Given the description of an element on the screen output the (x, y) to click on. 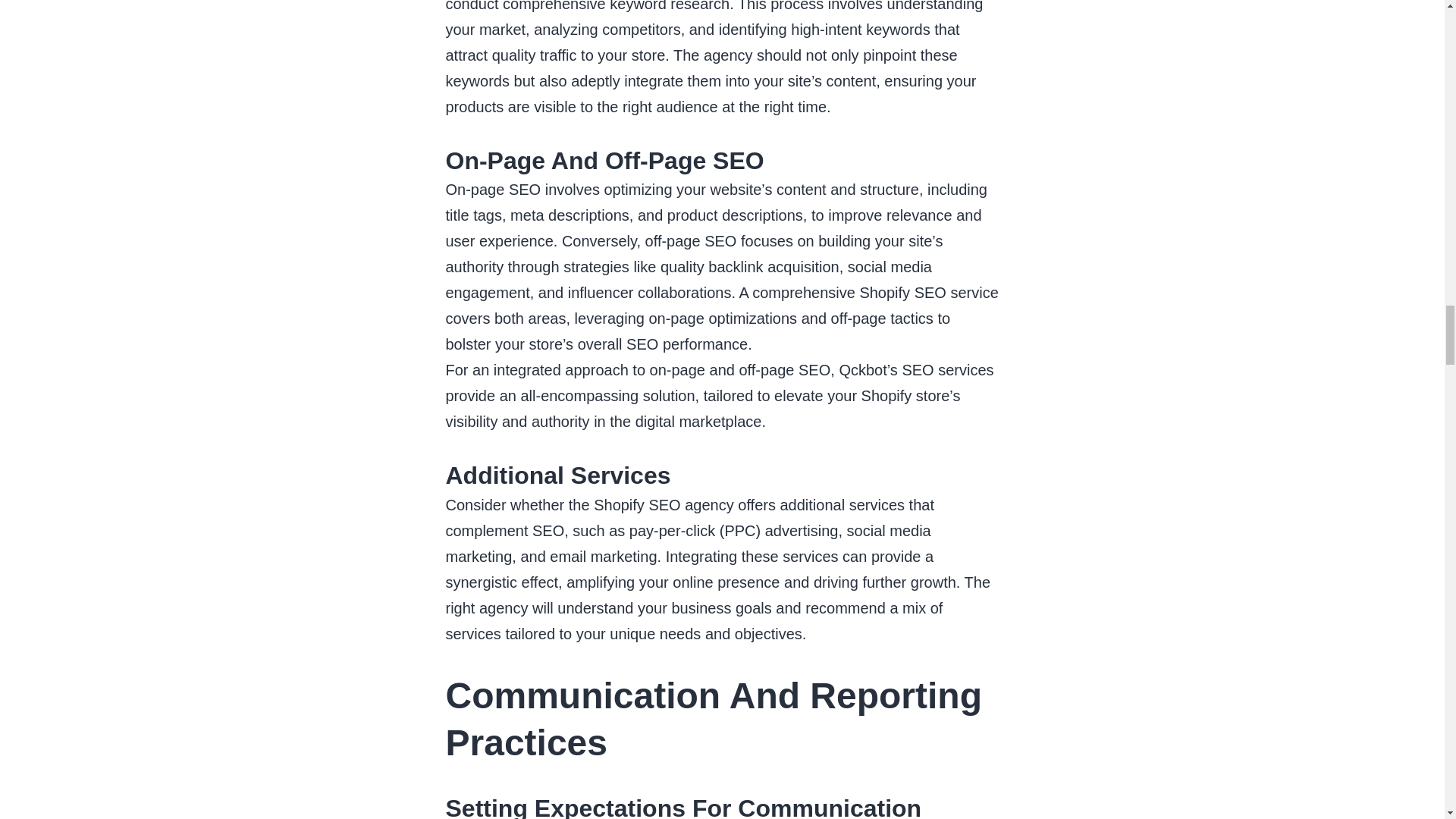
integrated approach to on-page and off-page SEO (661, 369)
